Given the description of an element on the screen output the (x, y) to click on. 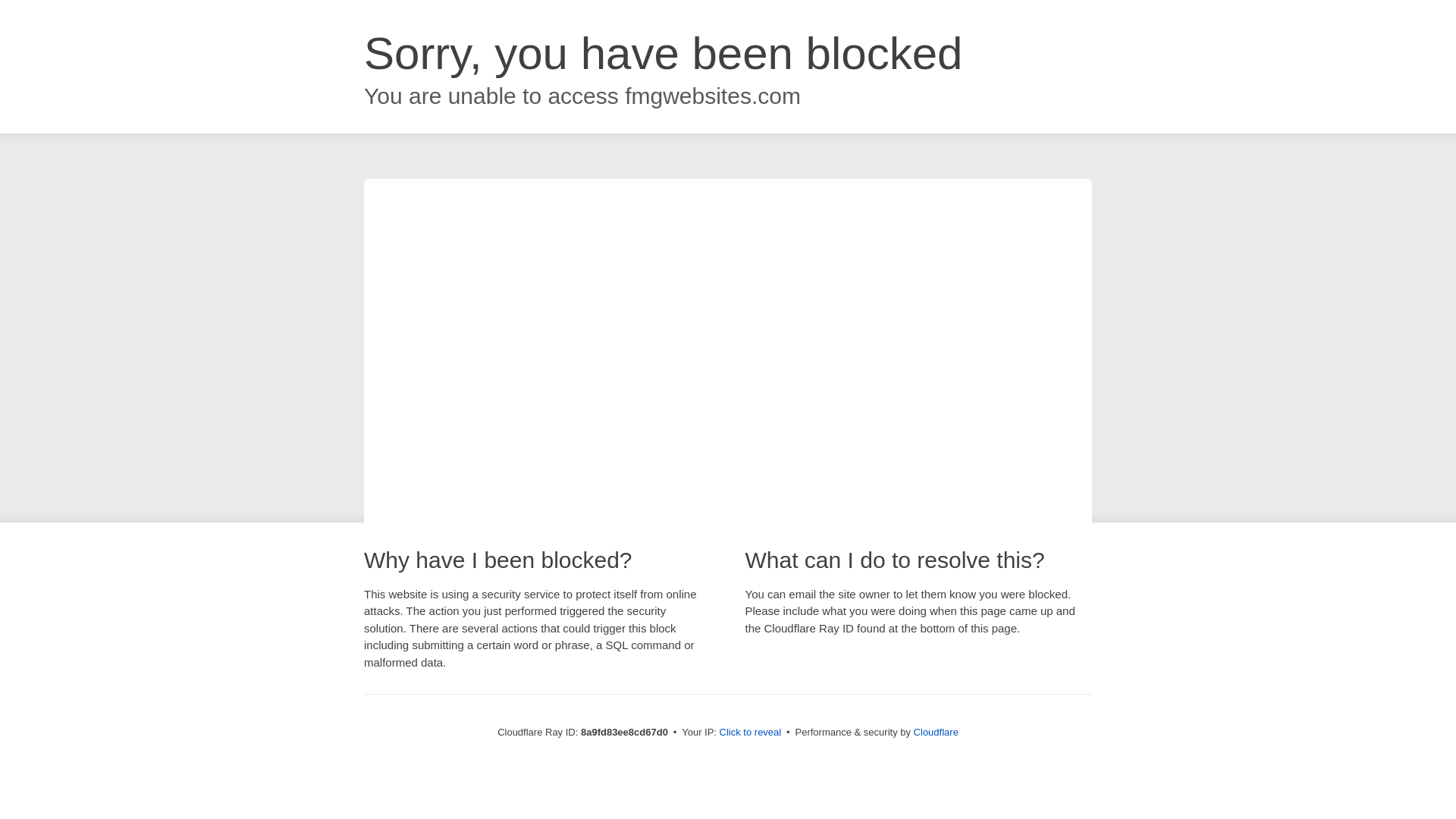
Click to reveal (750, 732)
Cloudflare (936, 731)
